Given the description of an element on the screen output the (x, y) to click on. 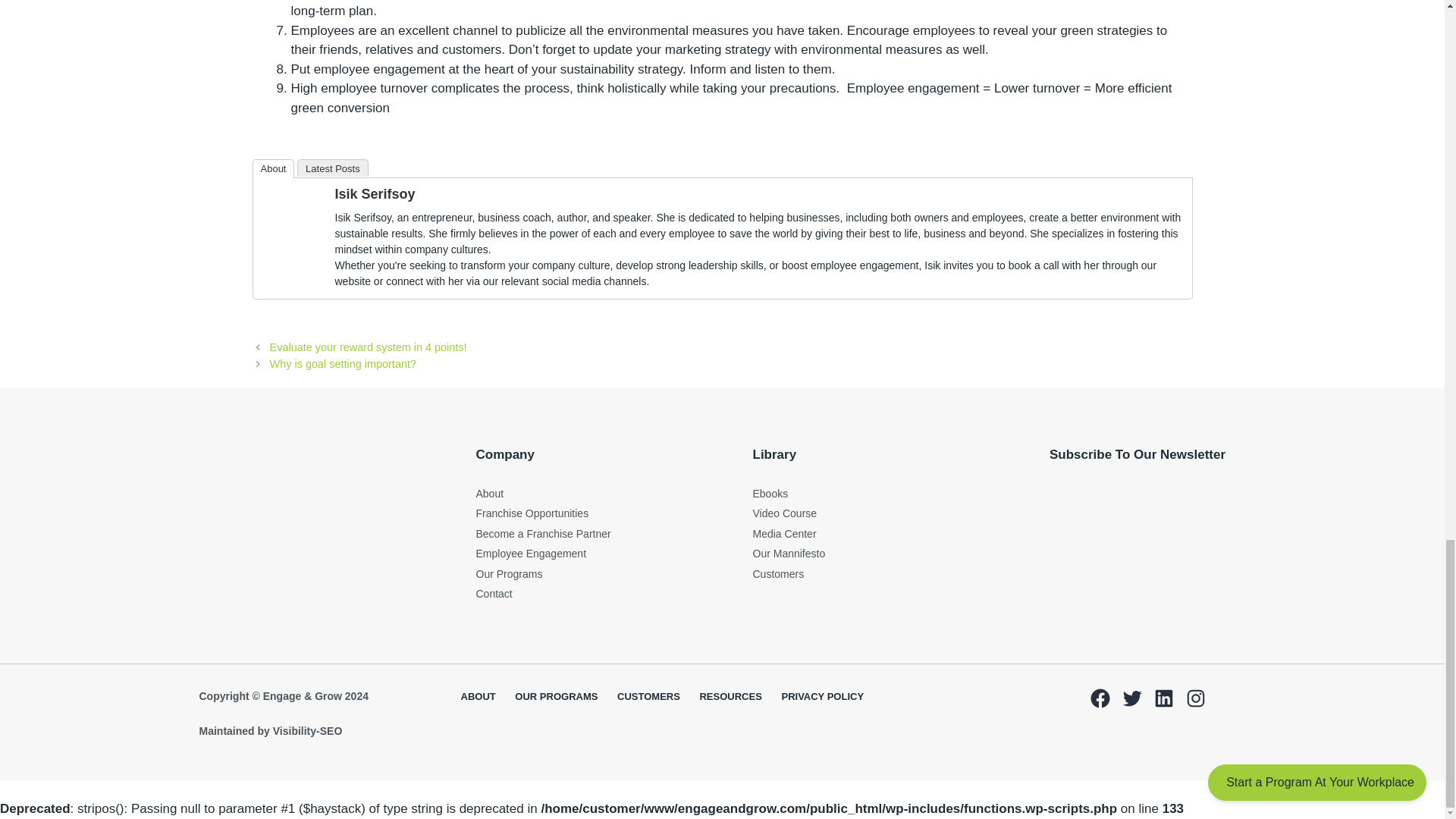
Evaluate your reward system in 4 points! (368, 346)
About (489, 493)
About (272, 168)
Isik Serifsoy (374, 193)
Isik Serifsoy (292, 273)
Why is goal setting important? (342, 363)
Latest Posts (332, 167)
